Given the description of an element on the screen output the (x, y) to click on. 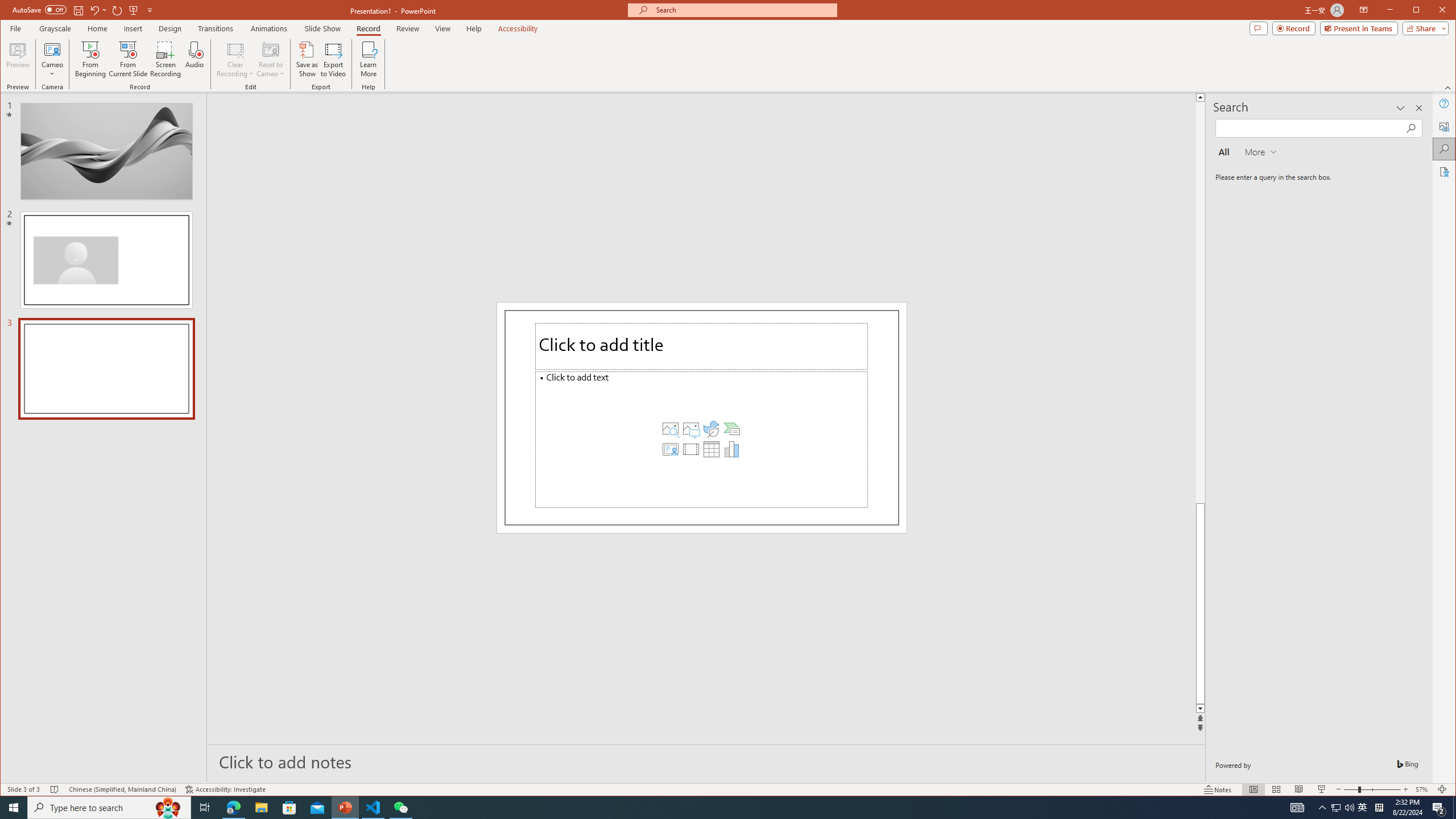
WeChat - 1 running window (400, 807)
